Given the description of an element on the screen output the (x, y) to click on. 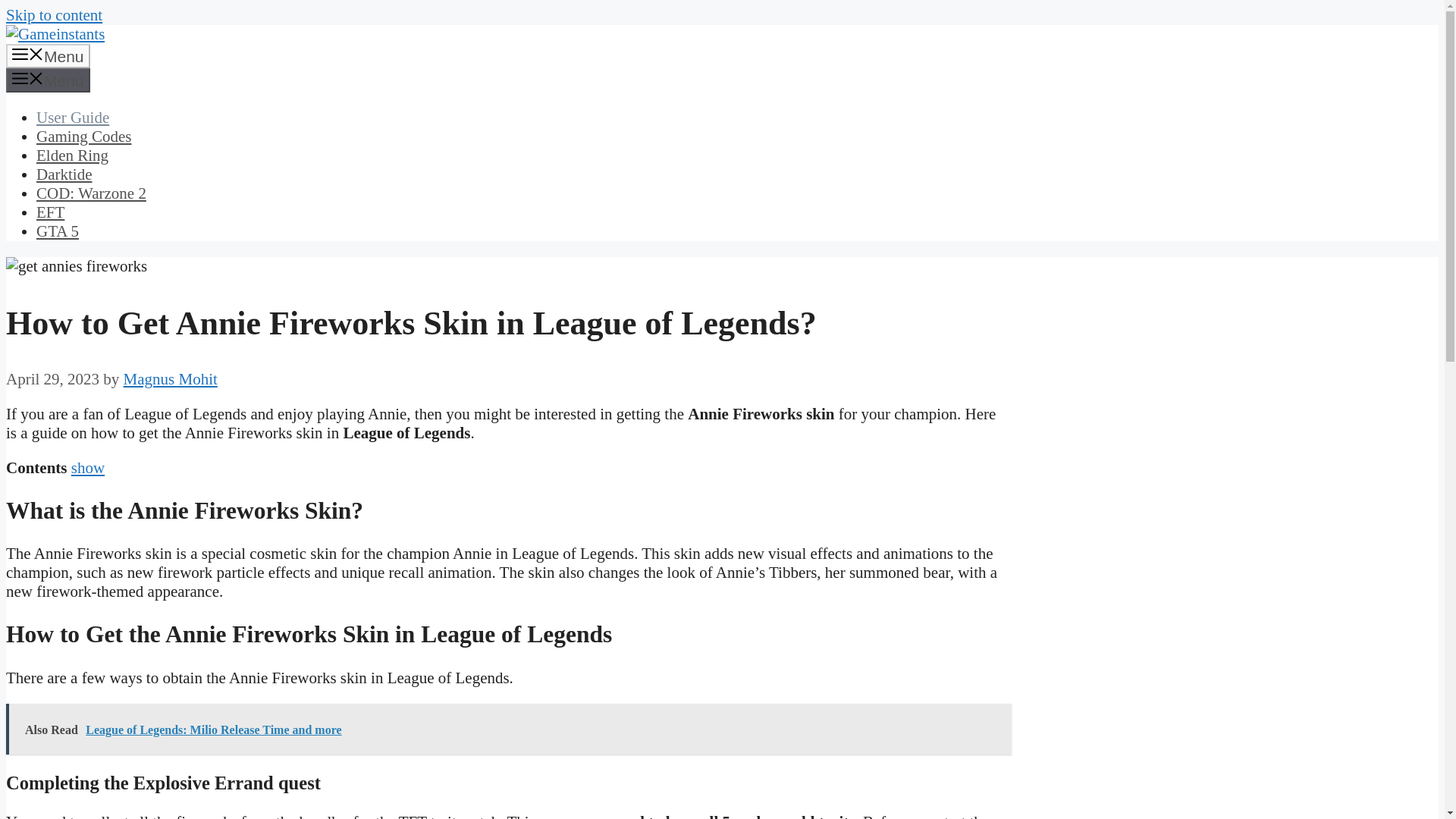
COD: Warzone 2 (91, 193)
Elden Ring (71, 155)
How to Get Annie Fireworks Skin in League of Legends? (76, 266)
EFT (50, 212)
Skip to content (53, 14)
User Guide (72, 117)
Gaming Codes (83, 136)
View all posts by Magnus Mohit (169, 379)
Skip to content (53, 14)
Menu (47, 55)
show (87, 467)
Darktide (63, 174)
Menu (47, 79)
Also Read  League of Legends: Milio Release Time and more (508, 728)
Magnus Mohit (169, 379)
